Given the description of an element on the screen output the (x, y) to click on. 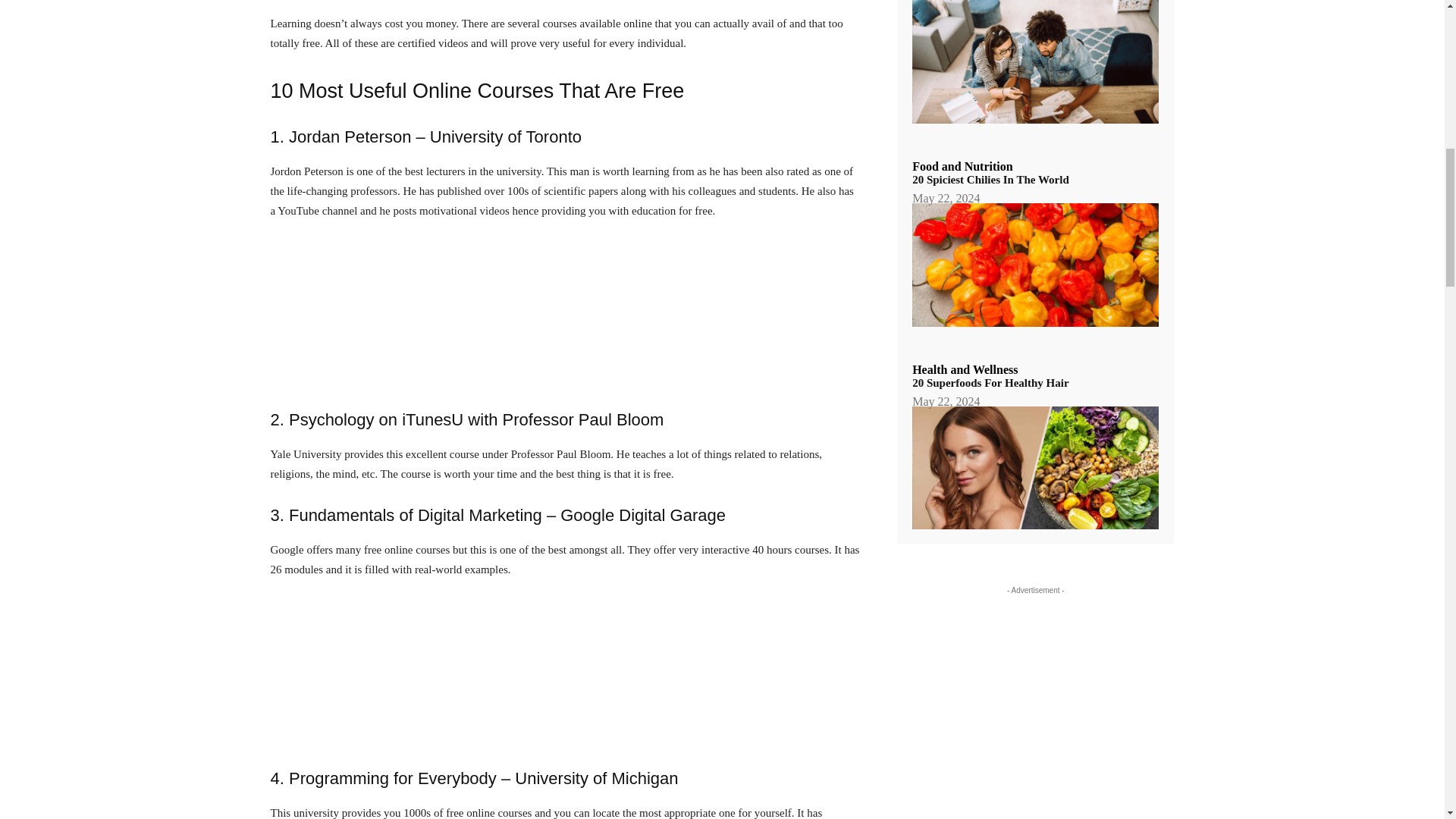
Advertisement (564, 672)
Advertisement (564, 314)
